Given the description of an element on the screen output the (x, y) to click on. 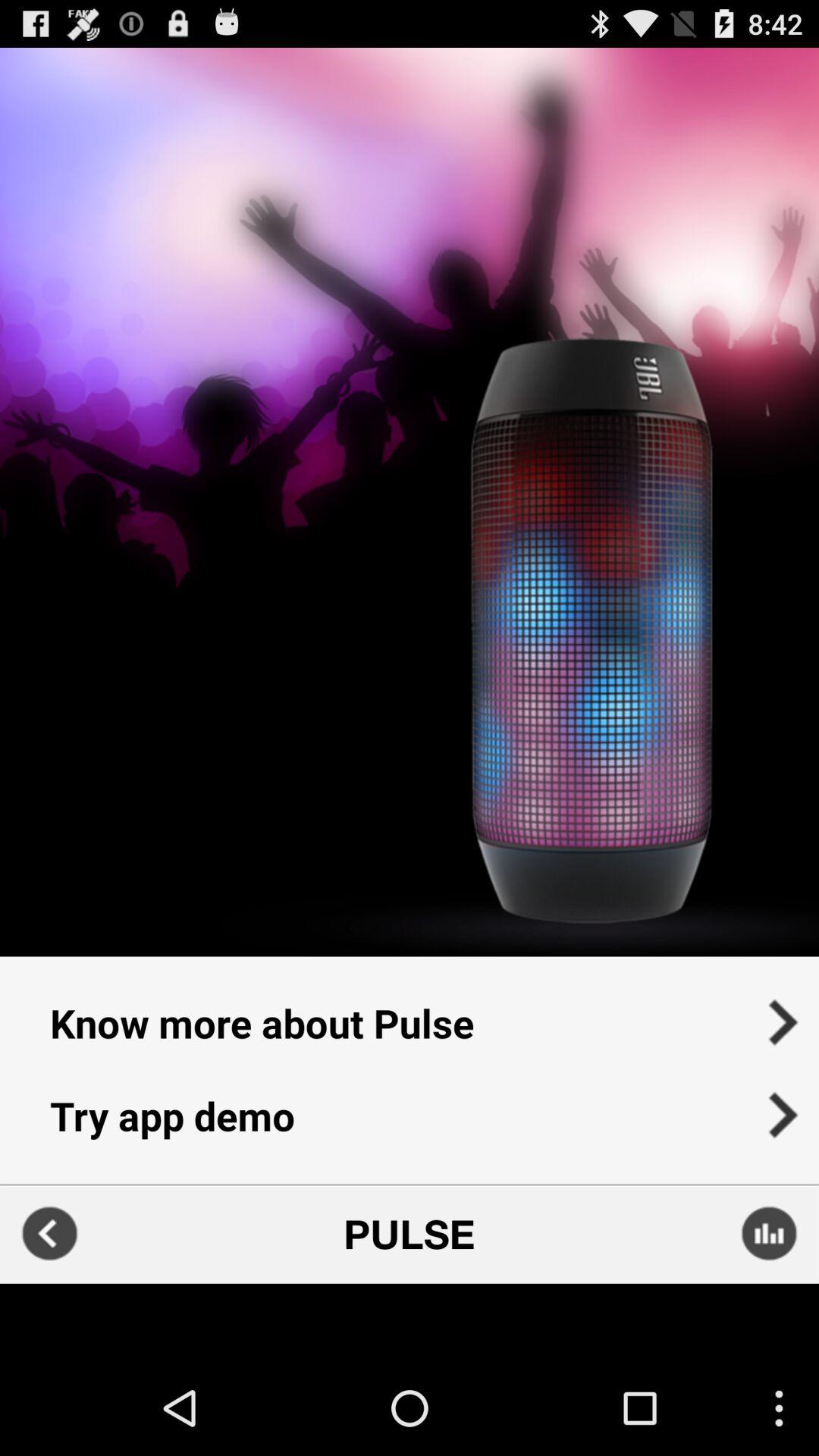
toggles a data screen (769, 1233)
